Given the description of an element on the screen output the (x, y) to click on. 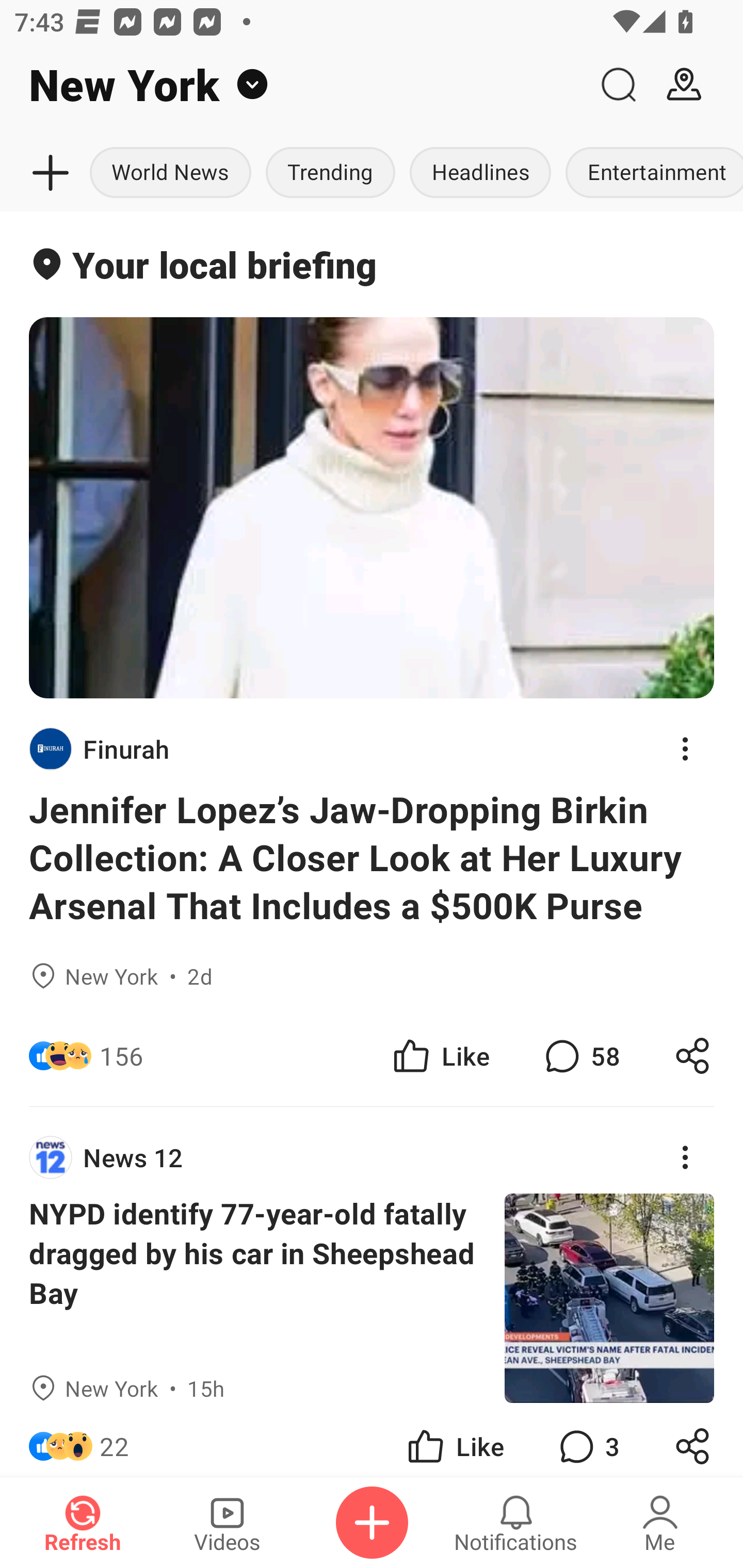
New York (292, 84)
World News (172, 172)
Trending (330, 172)
Headlines (479, 172)
Entertainment (650, 172)
156 (121, 1055)
Like (439, 1055)
58 (579, 1055)
22 (114, 1440)
Like (454, 1440)
3 (587, 1440)
Videos (227, 1522)
Notifications (516, 1522)
Me (659, 1522)
